Given the description of an element on the screen output the (x, y) to click on. 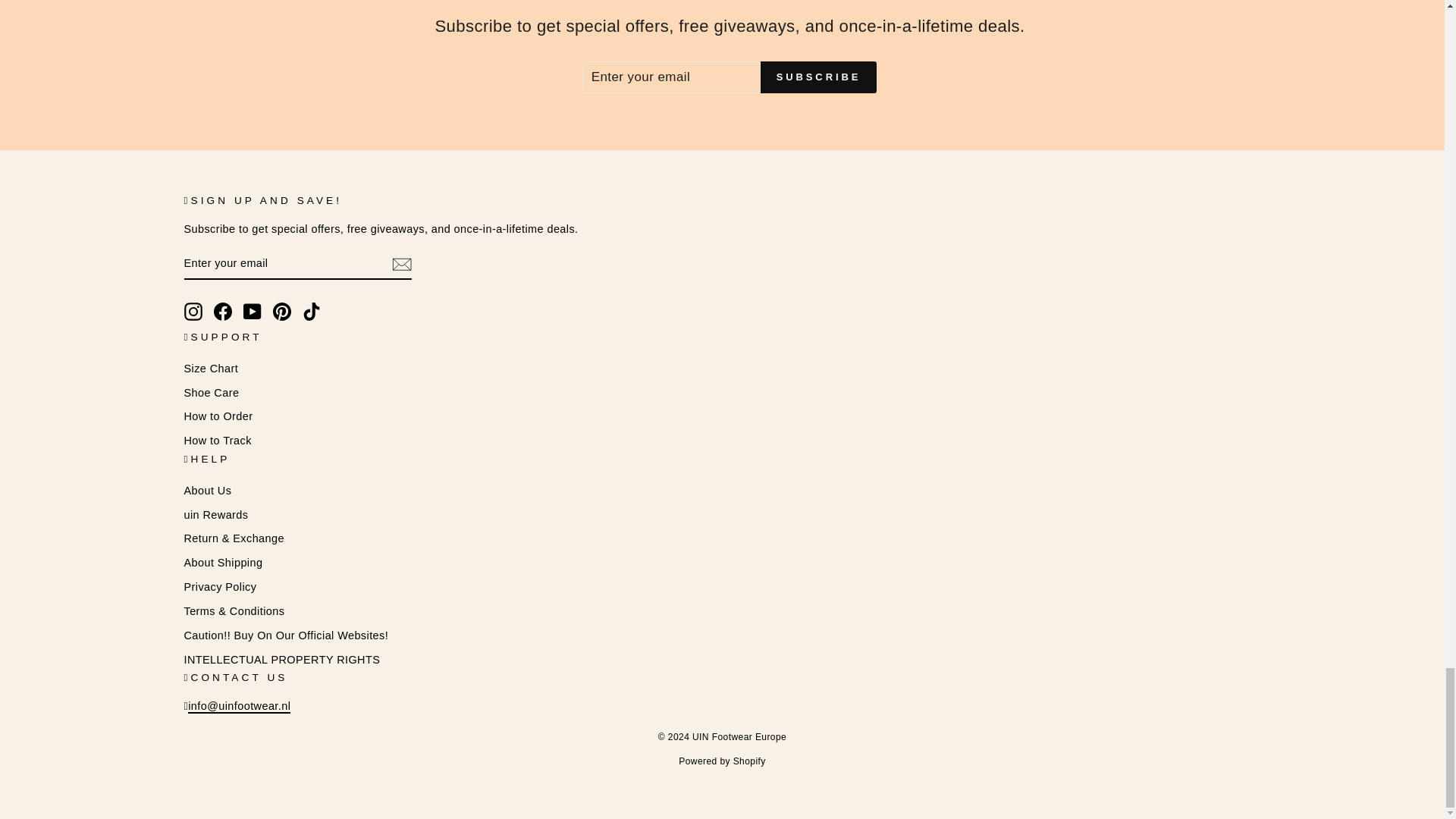
UIN Footwear Europe on TikTok (310, 311)
UIN Footwear Europe on YouTube (251, 311)
UIN Footwear Europe on Instagram (192, 311)
UIN Footwear Europe on Pinterest (282, 311)
instagram (192, 311)
UIN Footwear Europe on Facebook (222, 311)
icon-email (400, 263)
